Given the description of an element on the screen output the (x, y) to click on. 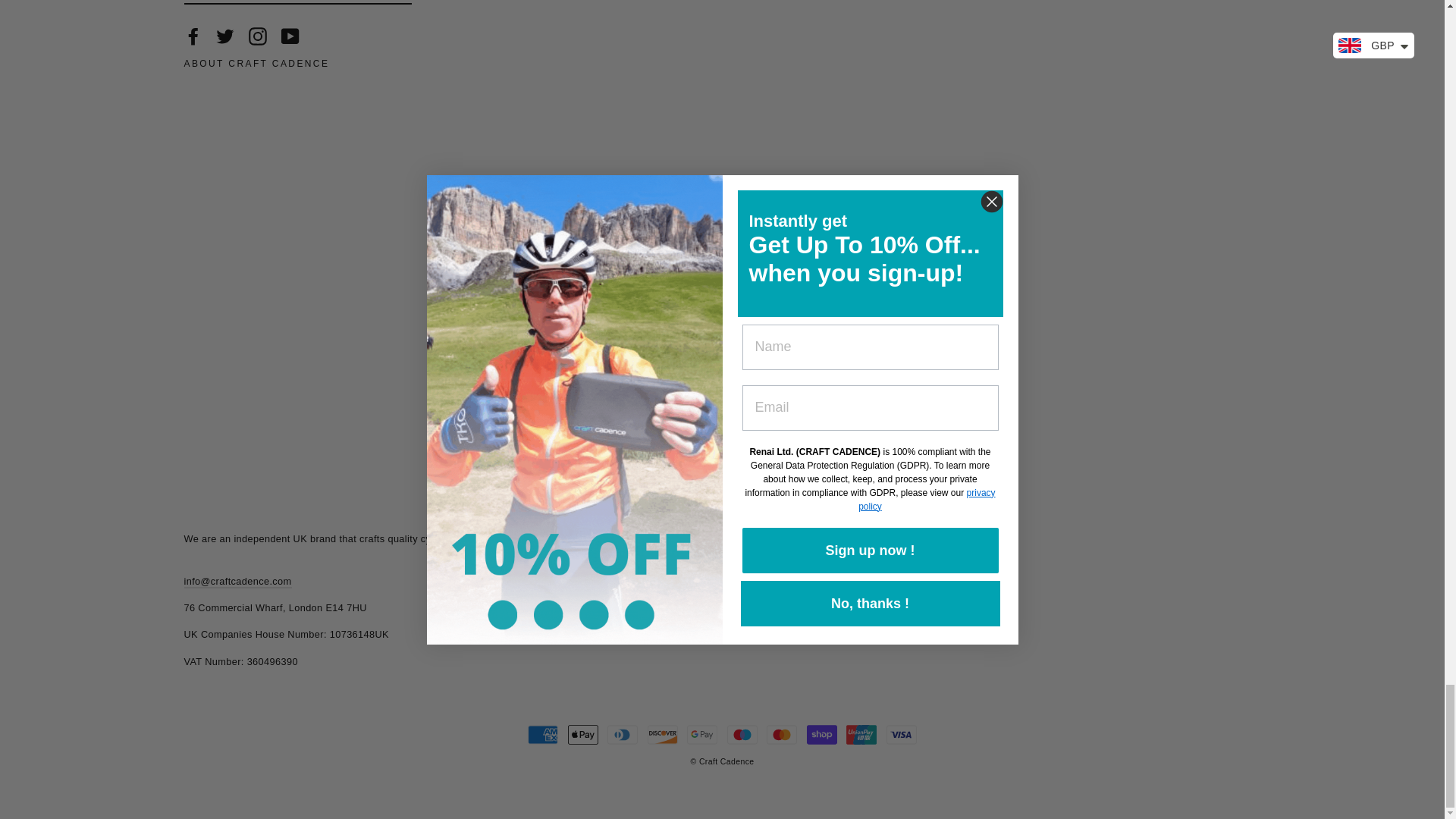
Craft Cadence on YouTube (290, 36)
Craft Cadence on Instagram (257, 36)
Craft Cadence on Facebook (192, 36)
Craft Cadence on Twitter (224, 36)
